Given the description of an element on the screen output the (x, y) to click on. 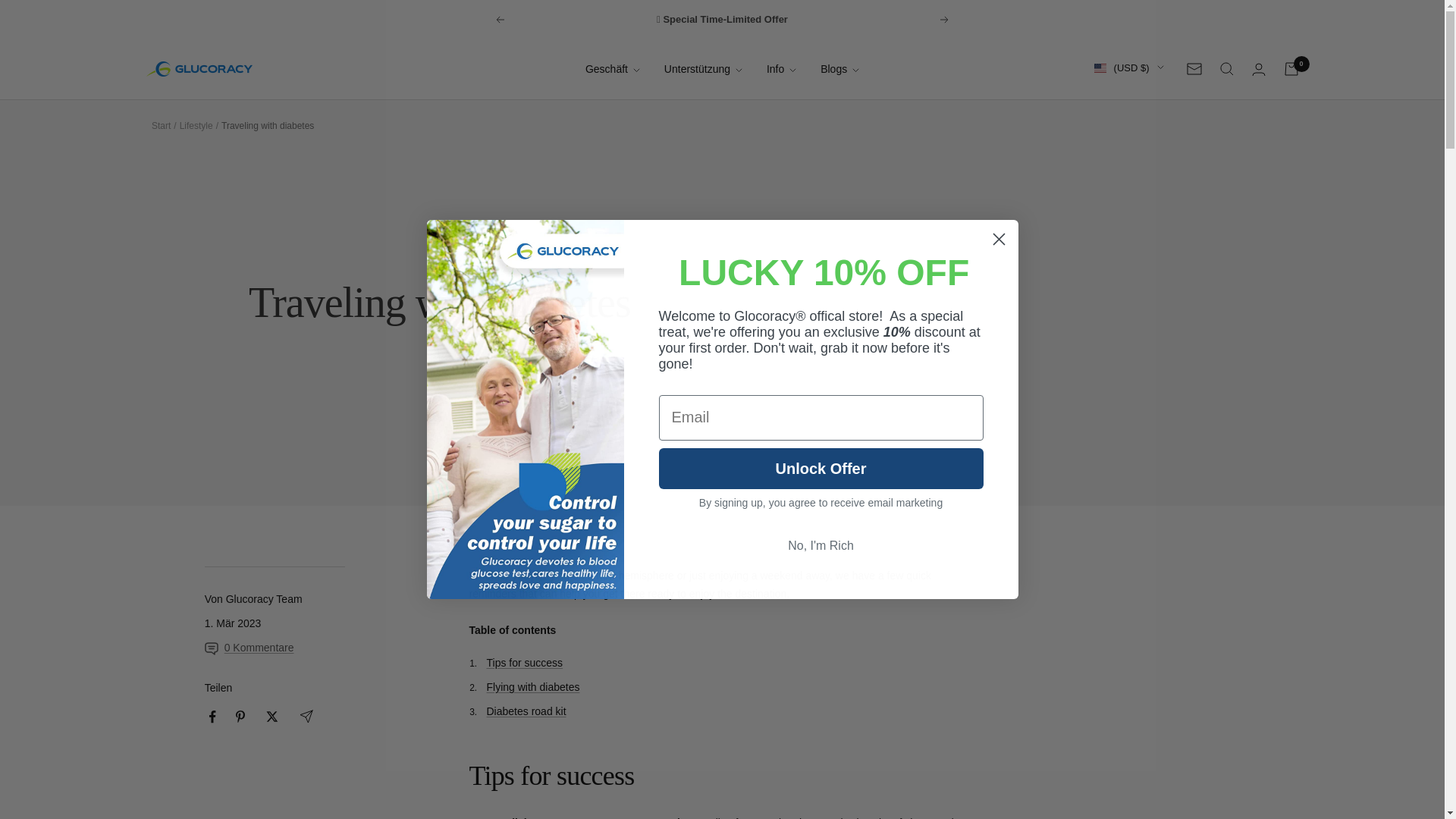
Lifestyle (195, 125)
Blogs (840, 68)
AU (1077, 120)
US (1077, 190)
Info (781, 68)
Newsletter (1193, 69)
Glucoracy (198, 68)
CA (1077, 167)
Tips for success (524, 662)
GB (1077, 215)
Weiter (944, 19)
Start (160, 125)
DE (1077, 144)
0 Kommentare (253, 647)
